Given the description of an element on the screen output the (x, y) to click on. 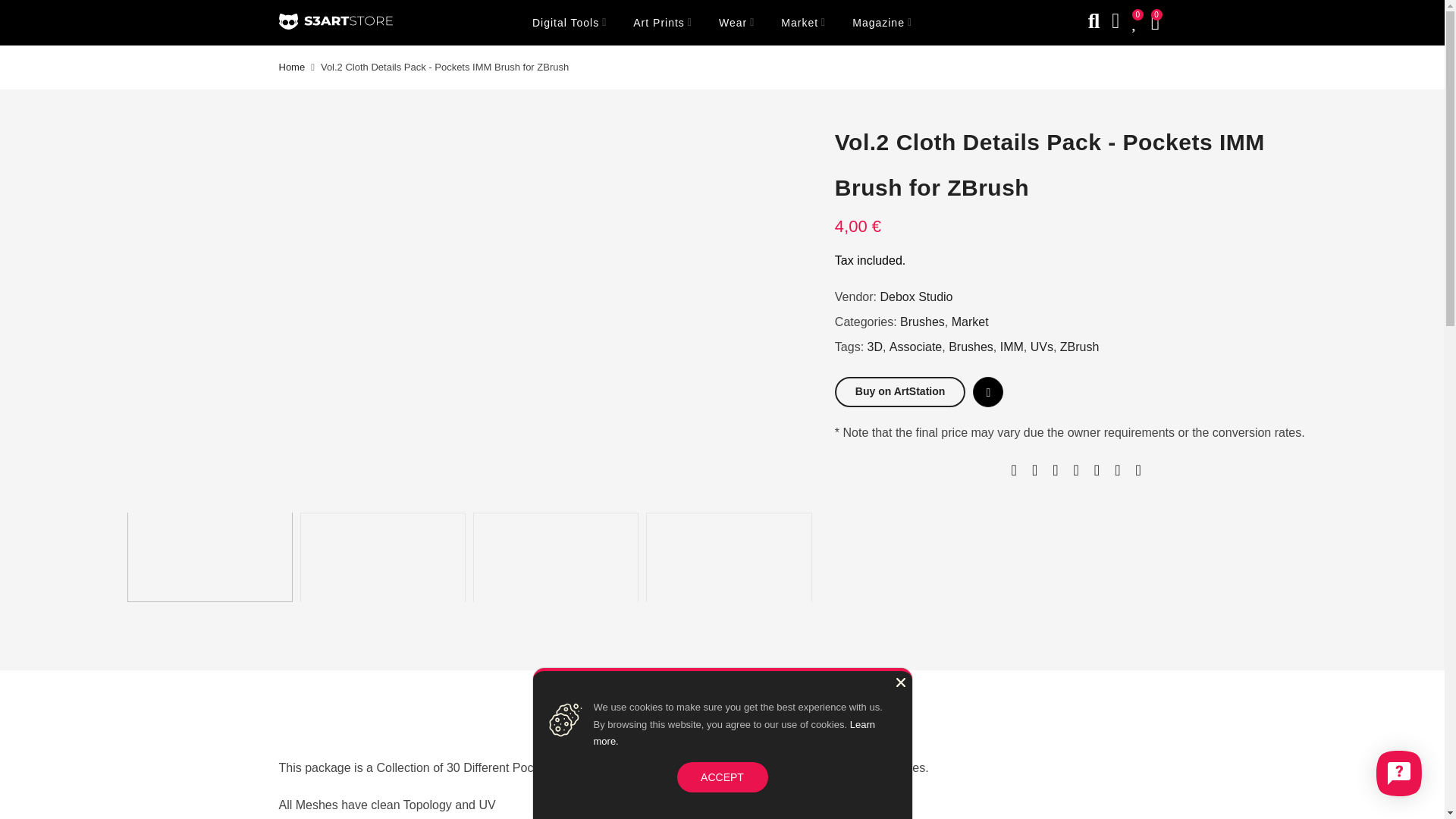
Learn more. (733, 733)
Art Prints (663, 22)
Wear (735, 22)
Debox Studio (915, 296)
Digital Tools (569, 22)
